Given the description of an element on the screen output the (x, y) to click on. 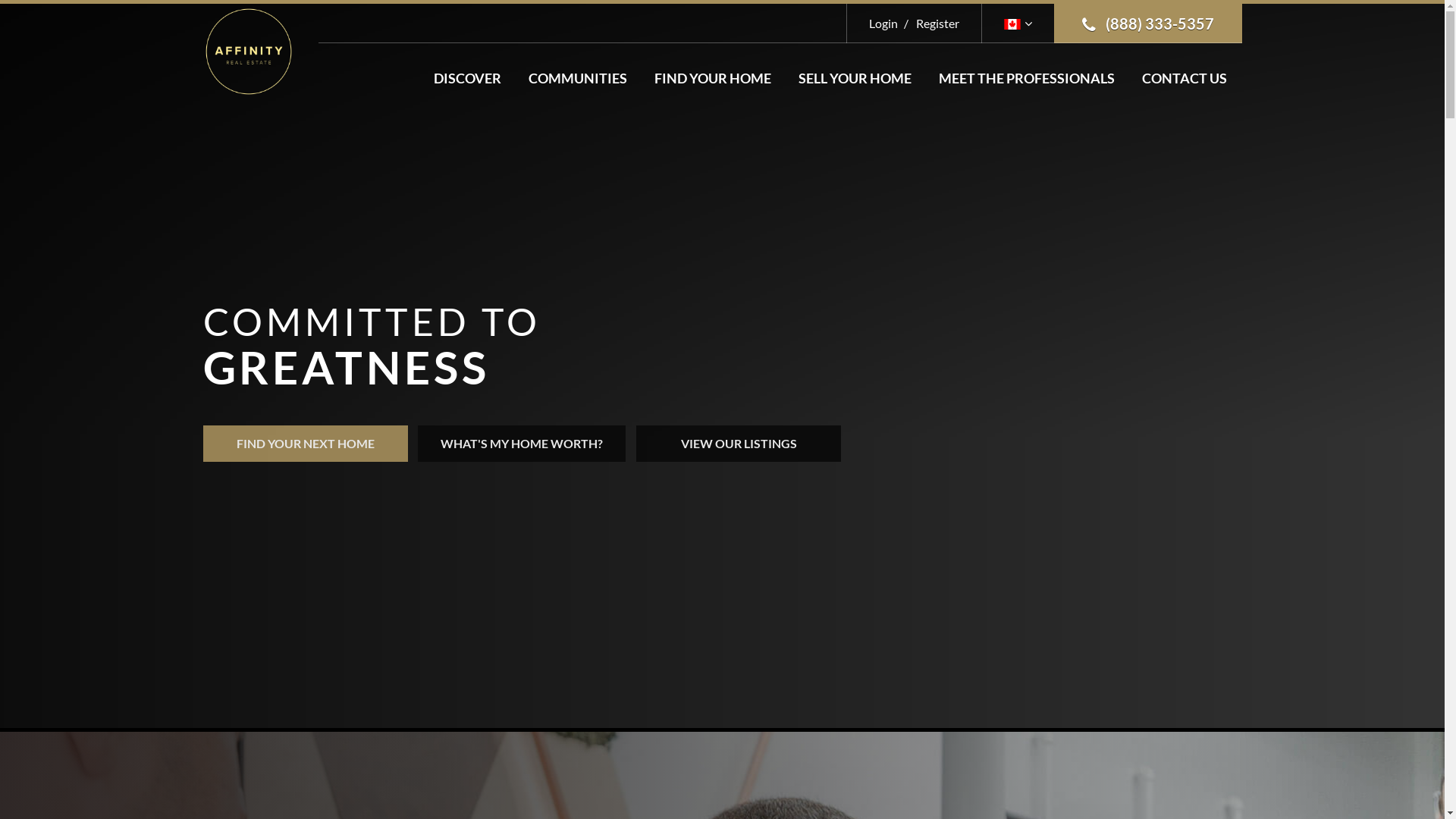
COMMUNITIES Element type: text (576, 77)
Register Element type: text (929, 22)
VIEW OUR LISTINGS Element type: text (738, 443)
MEET THE PROFESSIONALS Element type: text (1026, 77)
SELL YOUR HOME Element type: text (853, 77)
(888) 333-5357 Element type: text (1147, 23)
FIND YOUR NEXT HOME Element type: text (305, 443)
Home Page Element type: hover (248, 49)
Select Language Element type: hover (1018, 23)
CONTACT US Element type: text (1184, 77)
DISCOVER Element type: text (467, 77)
FIND YOUR HOME Element type: text (711, 77)
Login Element type: text (883, 22)
WHAT'S MY HOME WORTH? Element type: text (521, 443)
